Given the description of an element on the screen output the (x, y) to click on. 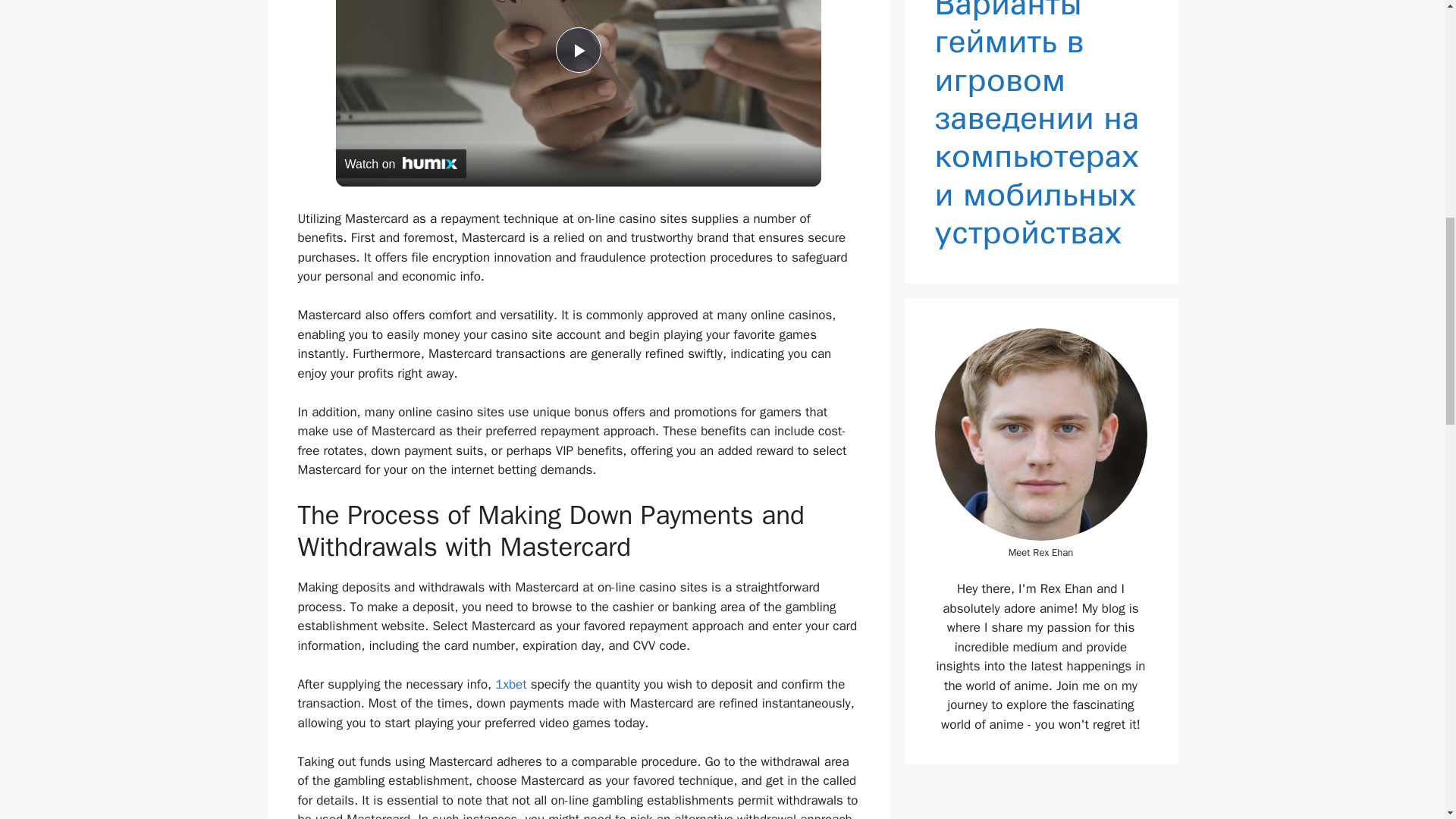
1xbet (510, 684)
Play Video (576, 49)
Play Video (576, 49)
Watch on (399, 163)
